Given the description of an element on the screen output the (x, y) to click on. 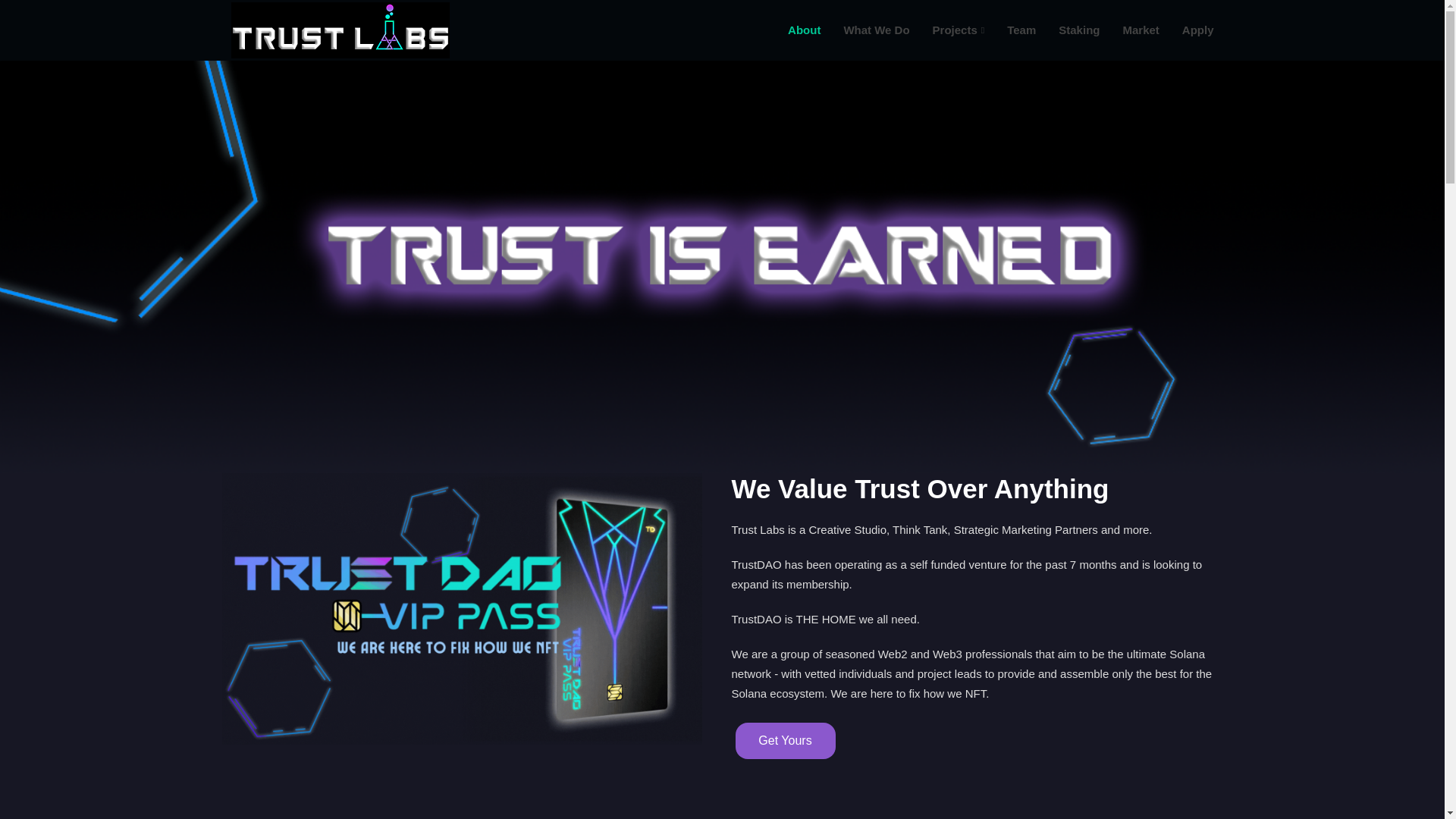
Team (1009, 30)
Staking (1067, 30)
About (793, 30)
Market (1128, 30)
Apply (1186, 30)
Projects (947, 30)
Team (1009, 30)
Get Yours (785, 740)
Get Yours (784, 739)
What We Do (864, 30)
